Given the description of an element on the screen output the (x, y) to click on. 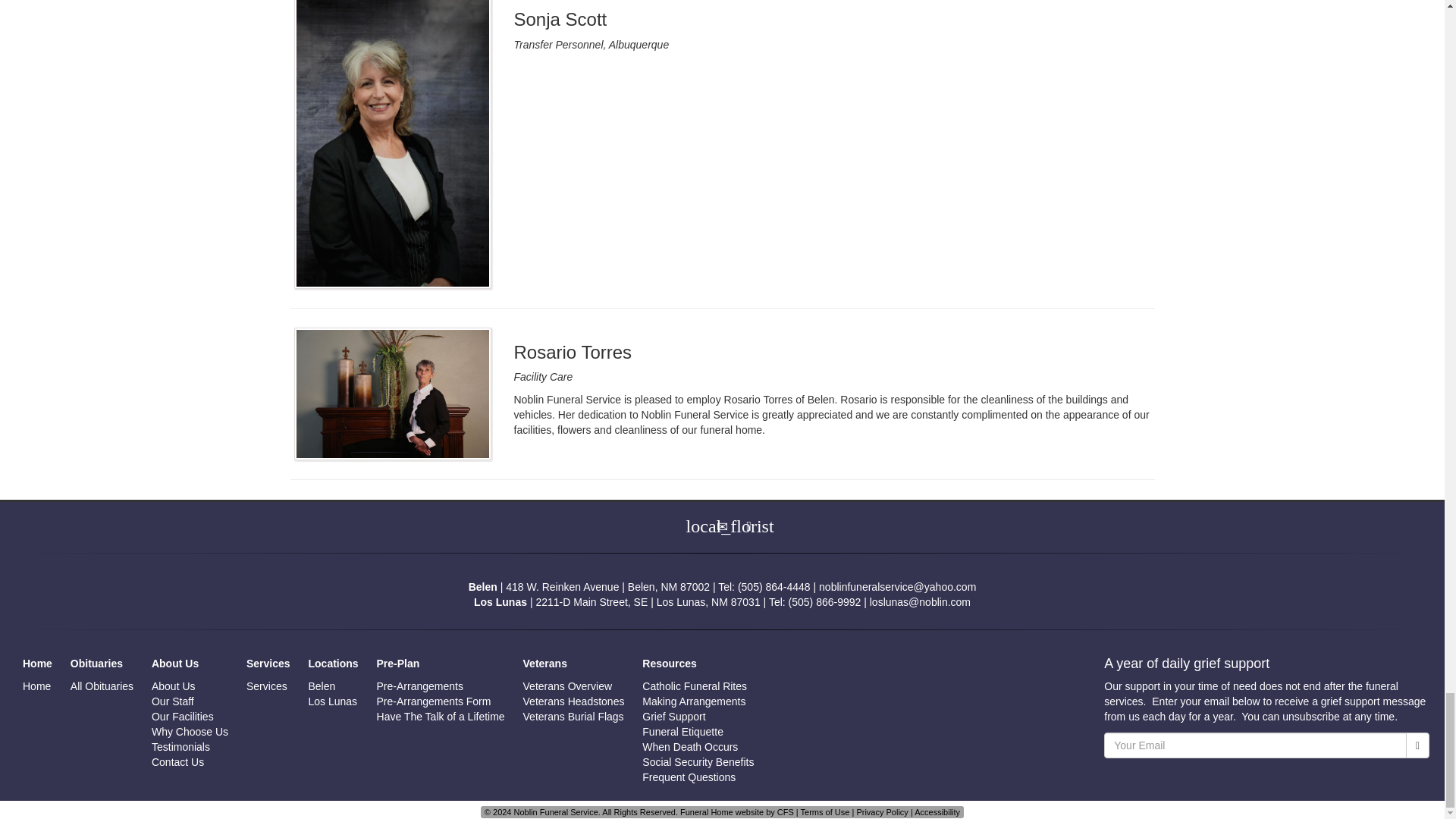
Contact Us (721, 525)
Send Flowers (694, 525)
Facebook (748, 525)
